Given the description of an element on the screen output the (x, y) to click on. 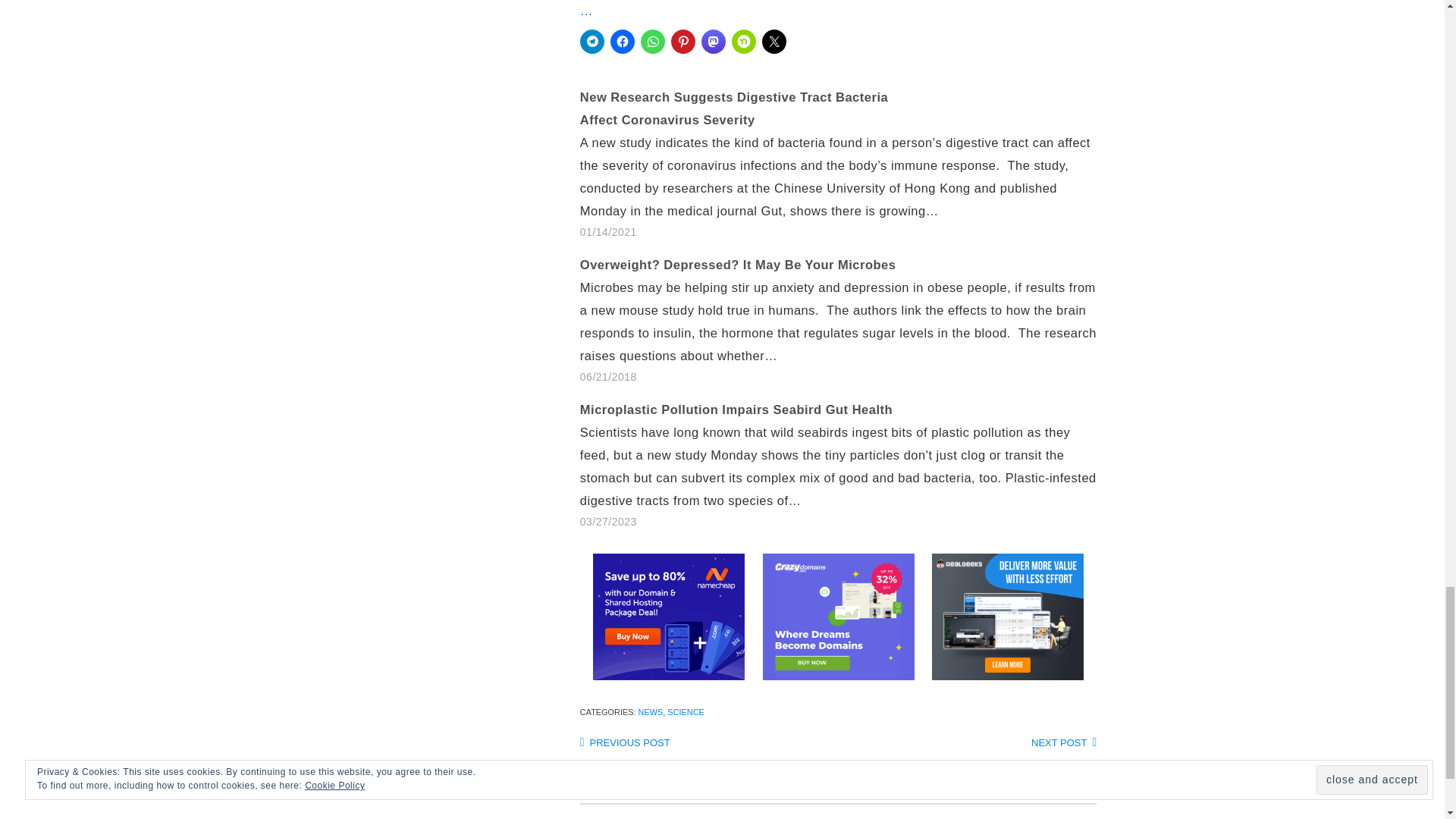
Click to share on Pinterest (683, 41)
NEXT POST (1063, 742)
Overweight? Depressed? It May Be Your Microbes (845, 320)
Click to share on X (773, 41)
Microplastic Pollution Impairs Seabird Gut Health (845, 465)
Overweight? Depressed? It May Be Your Microbes (737, 264)
PREVIOUS POST (624, 742)
Overweight? Depressed? It May Be Your Microbes (737, 264)
Click to share on Mastodon (713, 41)
Microplastic Pollution Impairs Seabird Gut Health (735, 409)
Microplastic Pollution Impairs Seabird Gut Health (735, 409)
SCIENCE (684, 711)
Click to share on Telegram (591, 41)
